Given the description of an element on the screen output the (x, y) to click on. 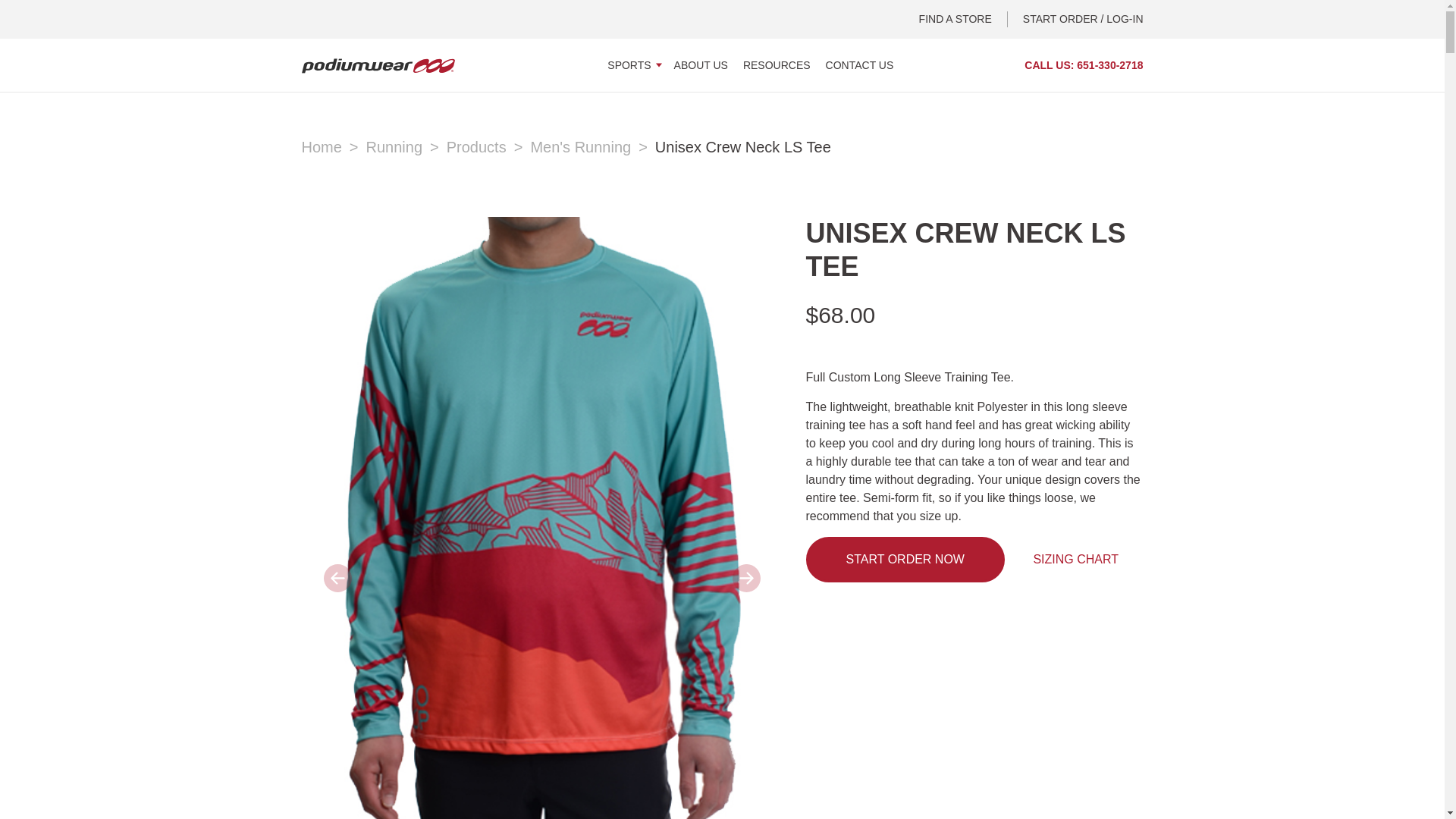
Running (402, 146)
CALL US: 651-330-2718 (1083, 65)
FIND A STORE (962, 19)
Men's Running (587, 146)
SPORTS (632, 64)
Products (484, 146)
ABOUT US (701, 64)
START ORDER NOW (904, 559)
Home (329, 146)
RESOURCES (776, 64)
CONTACT US (859, 64)
